Given the description of an element on the screen output the (x, y) to click on. 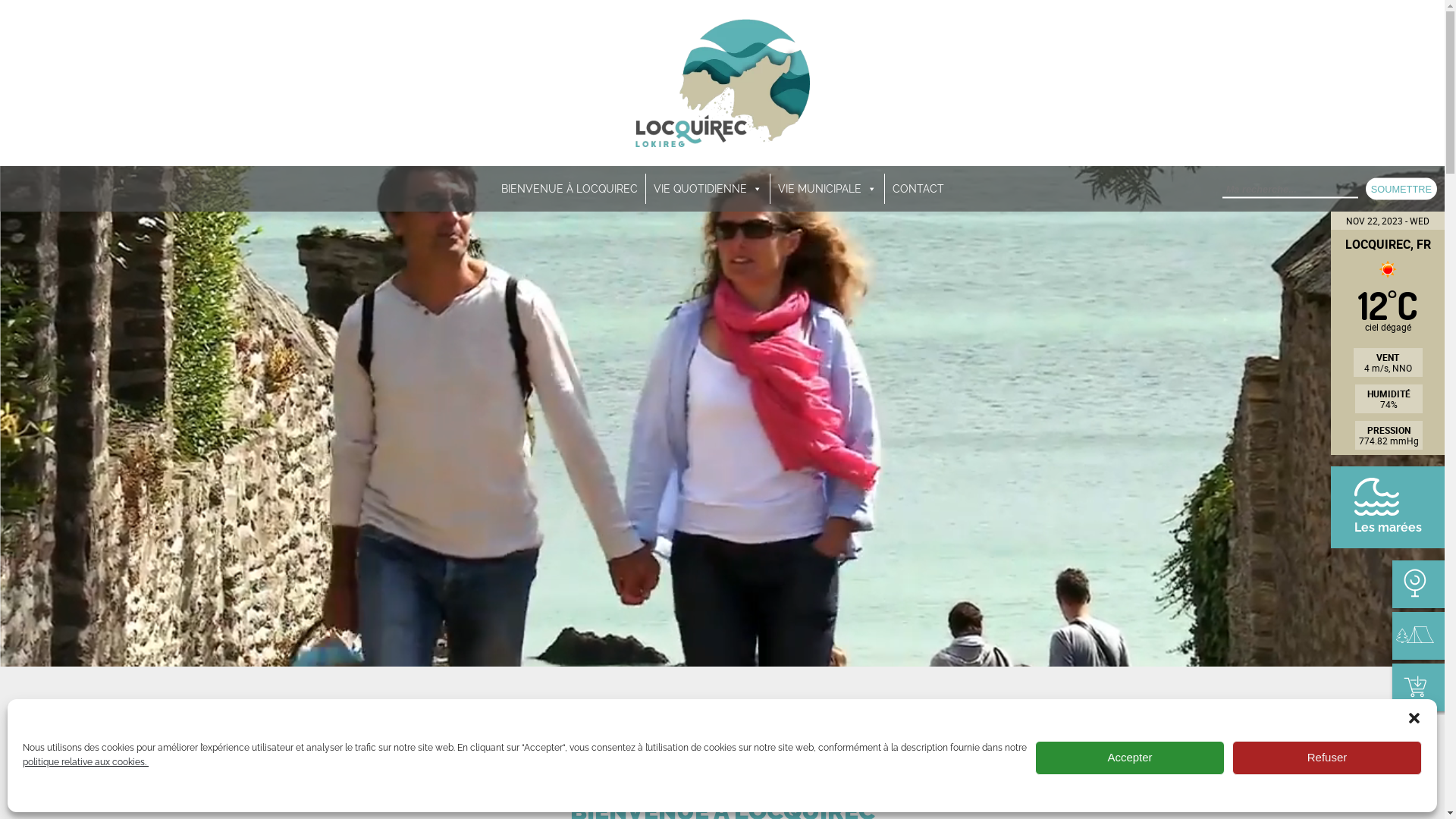
Refuser Element type: text (1326, 757)
VIE MUNICIPALE Element type: text (827, 188)
VIE QUOTIDIENNE Element type: text (707, 188)
Accepter Element type: text (1129, 757)
Soumettre Element type: text (1401, 189)
politique relative aux cookies.  Element type: text (85, 761)
CONTACT Element type: text (917, 188)
